Given the description of an element on the screen output the (x, y) to click on. 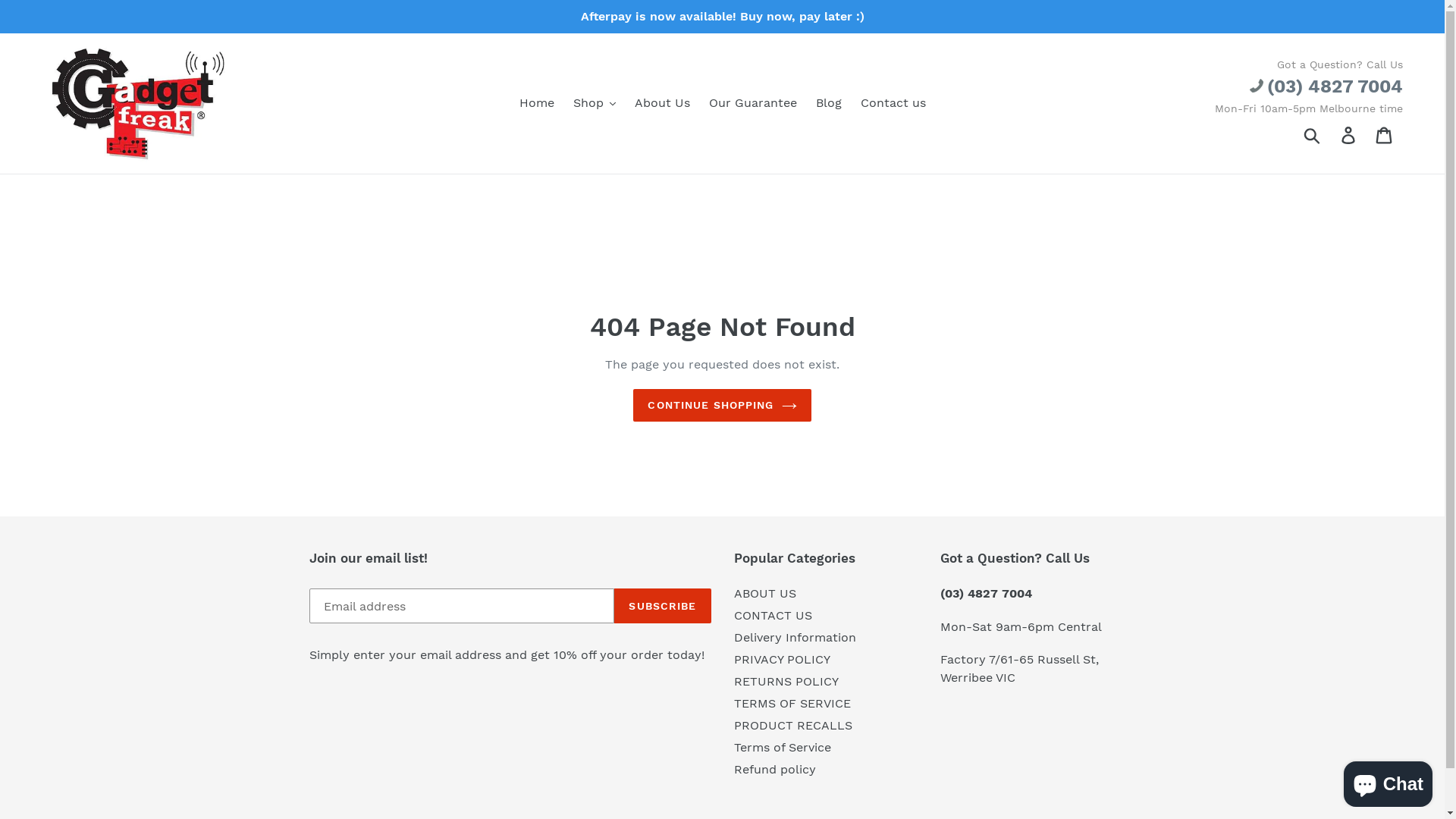
PRIVACY POLICY Element type: text (782, 659)
PRODUCT RECALLS Element type: text (793, 725)
Refund policy Element type: text (774, 769)
Shopify online store chat Element type: hover (1388, 780)
Delivery Information Element type: text (795, 637)
Home Element type: text (536, 102)
ABOUT US Element type: text (765, 593)
About Us Element type: text (661, 102)
RETURNS POLICY Element type: text (786, 681)
Contact us Element type: text (892, 102)
Submit Element type: text (1312, 133)
Log in Element type: text (1349, 134)
Terms of Service Element type: text (782, 747)
SUBSCRIBE Element type: text (662, 605)
CONTINUE SHOPPING Element type: text (721, 405)
TERMS OF SERVICE Element type: text (792, 703)
Blog Element type: text (828, 102)
Our Guarantee Element type: text (751, 102)
Cart Element type: text (1384, 134)
CONTACT US Element type: text (773, 615)
